Given the description of an element on the screen output the (x, y) to click on. 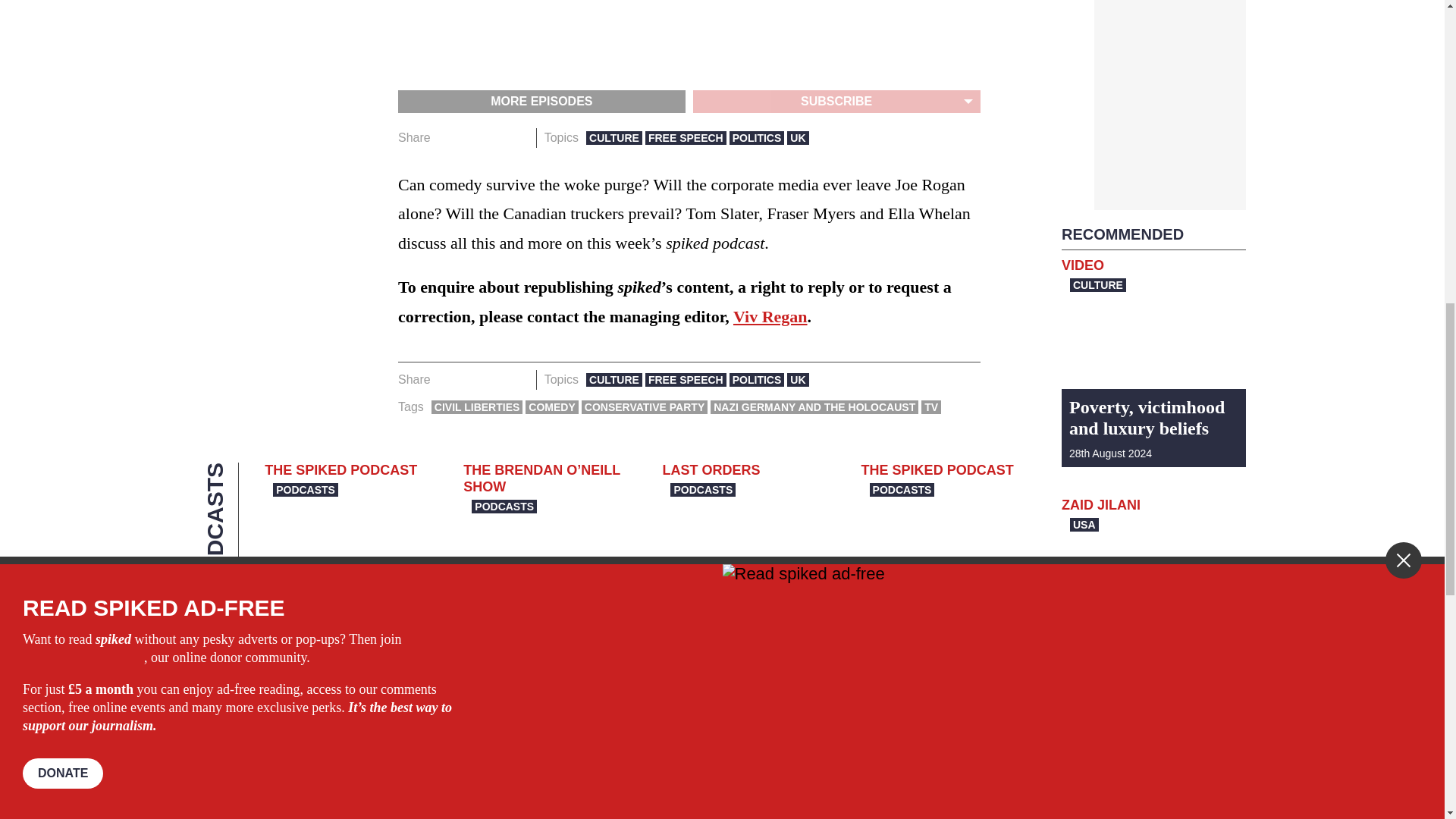
Share on Whatsapp (494, 379)
Share on Email (518, 379)
Share on Whatsapp (494, 137)
Share on Twitter (471, 137)
Share on Email (518, 137)
Share on Twitter (471, 379)
Share on Facebook (448, 379)
Share on Facebook (448, 137)
